Given the description of an element on the screen output the (x, y) to click on. 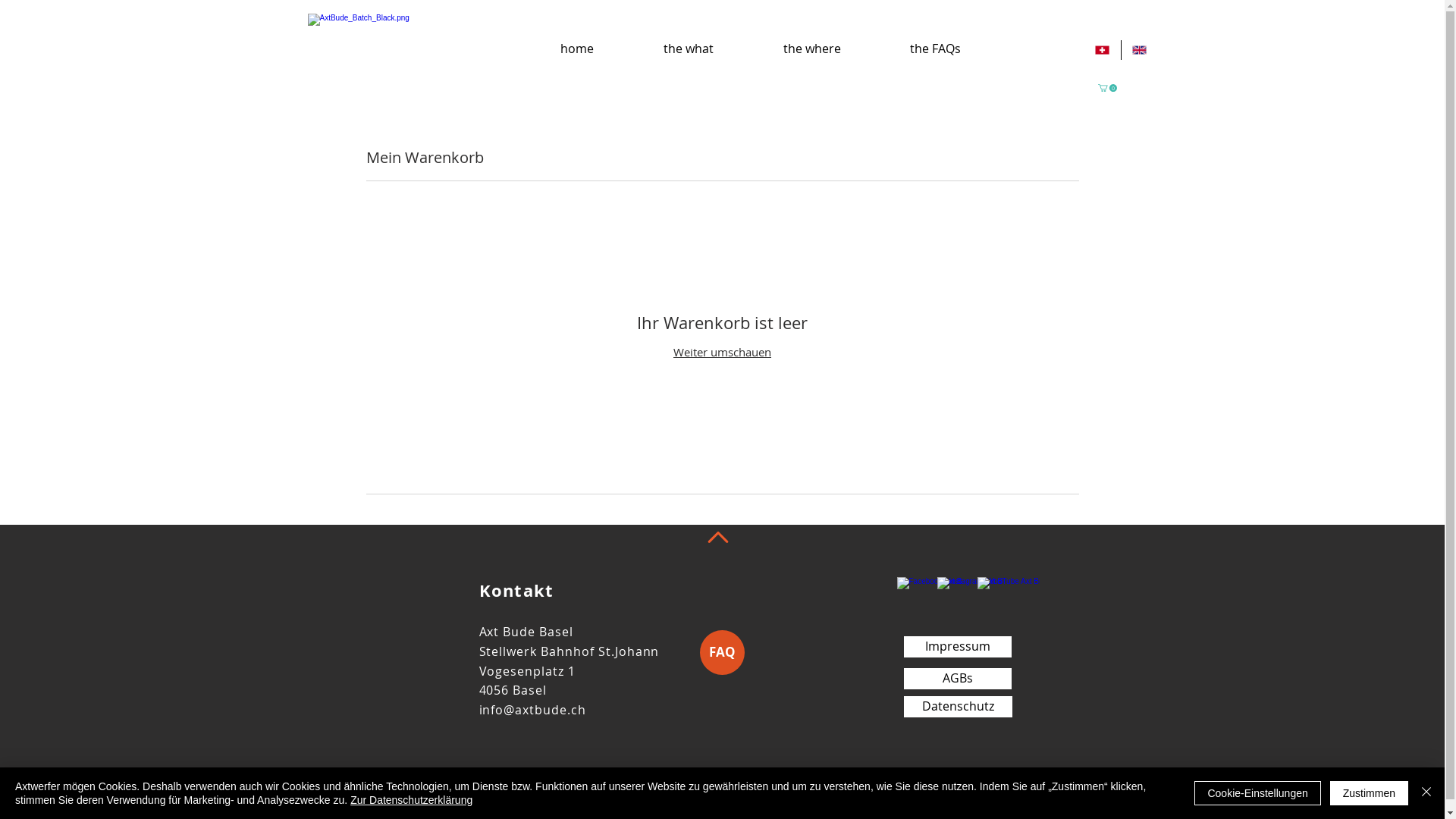
Weiter umschauen Element type: text (722, 351)
FAQ Element type: text (721, 652)
home Element type: text (575, 41)
the FAQs Element type: text (934, 41)
Impressum Element type: text (957, 646)
the what Element type: text (687, 41)
0 Element type: text (1107, 87)
Datenschutz Element type: text (957, 706)
AGBs Element type: text (957, 678)
the where Element type: text (811, 41)
info@axtbude.ch Element type: text (532, 709)
